Given the description of an element on the screen output the (x, y) to click on. 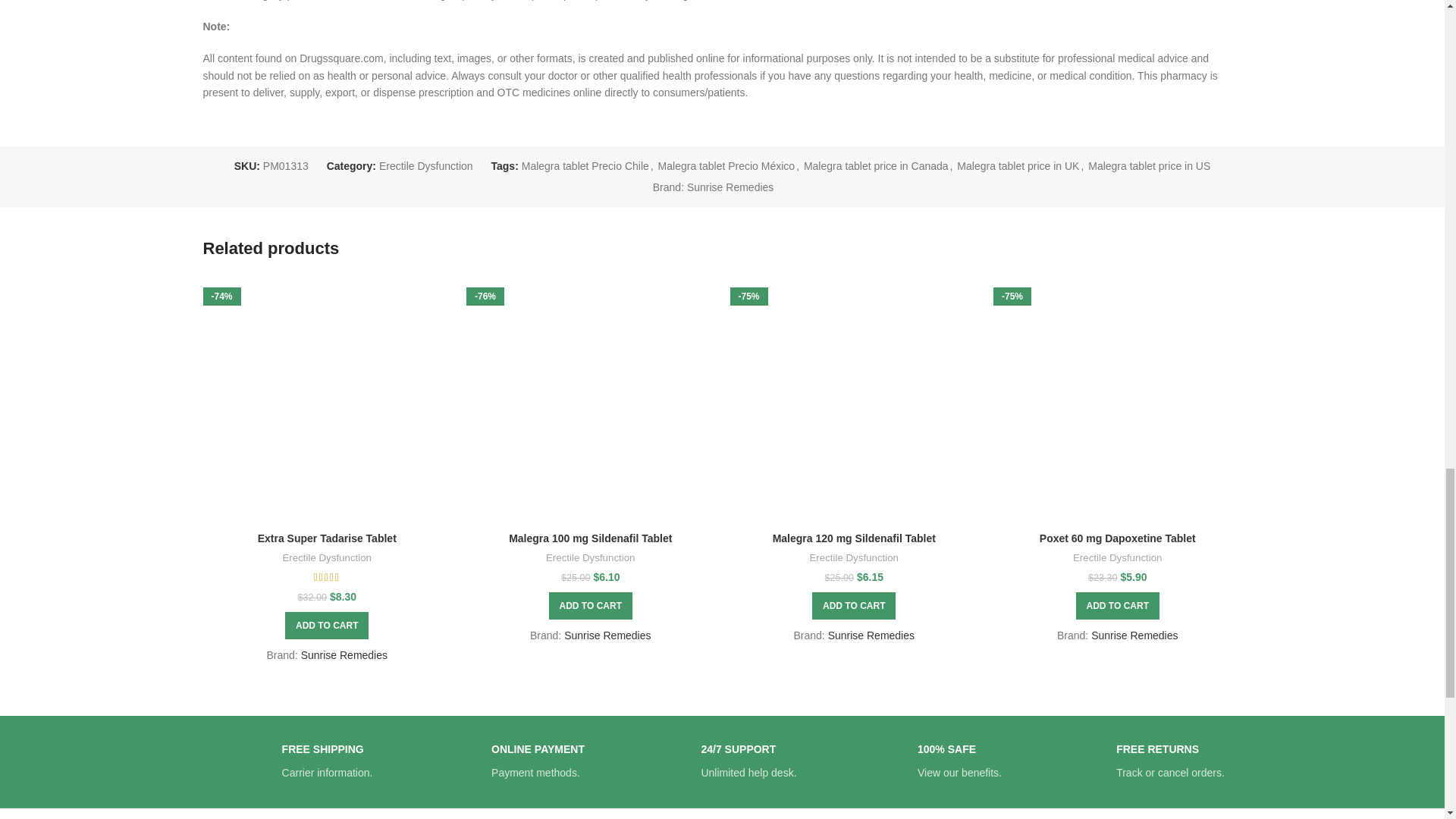
Online payment Drugssquare (457, 761)
Safe drugssquare (883, 761)
Free shipping Drugssquare (247, 761)
Chat Support Drugssquare (666, 761)
Free return drugssquare (1081, 761)
